Given the description of an element on the screen output the (x, y) to click on. 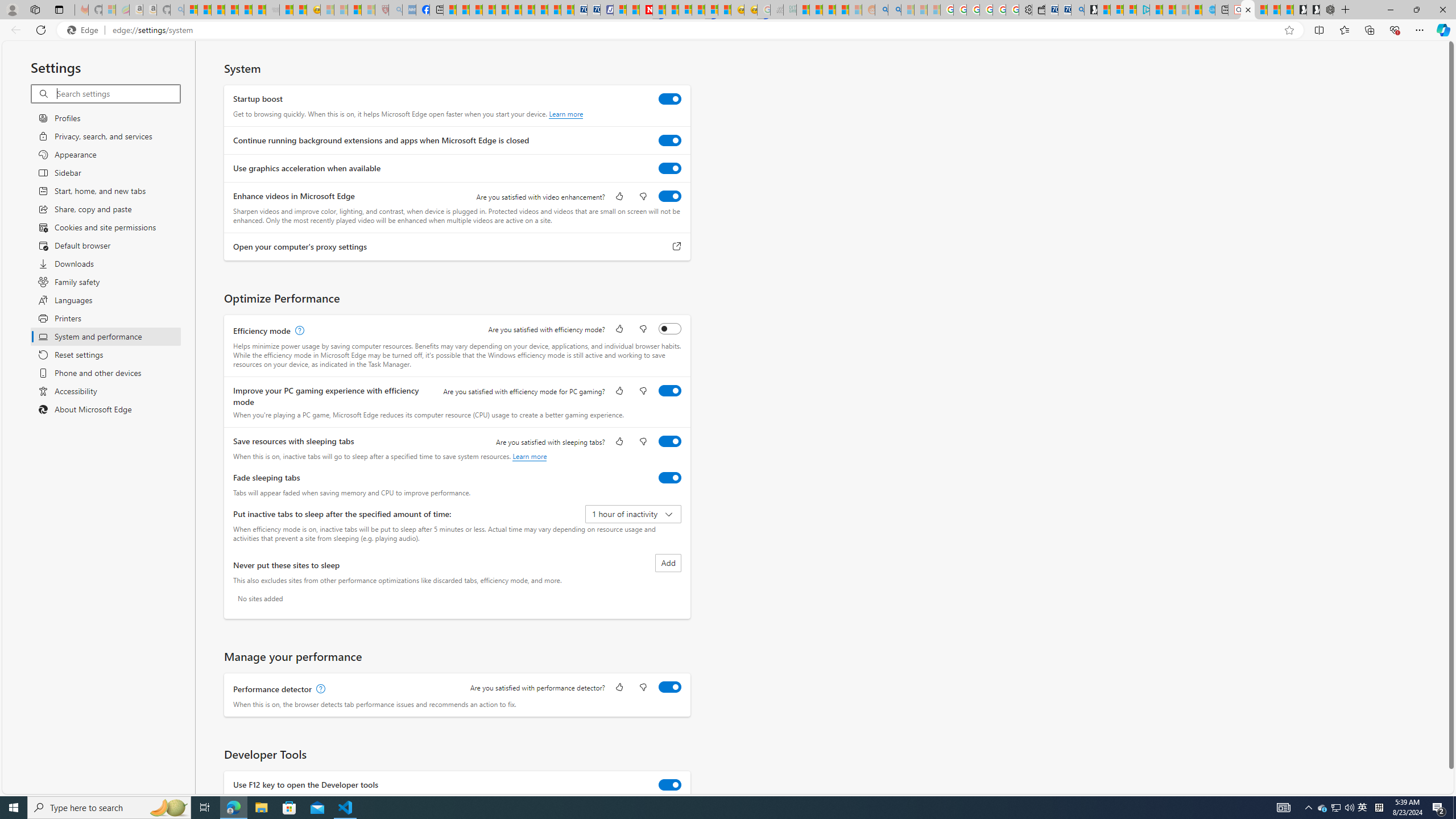
Cheap Hotels - Save70.com (593, 9)
Cheap Car Rentals - Save70.com (1063, 9)
New Report Confirms 2023 Was Record Hot | Watch (245, 9)
